Given the description of an element on the screen output the (x, y) to click on. 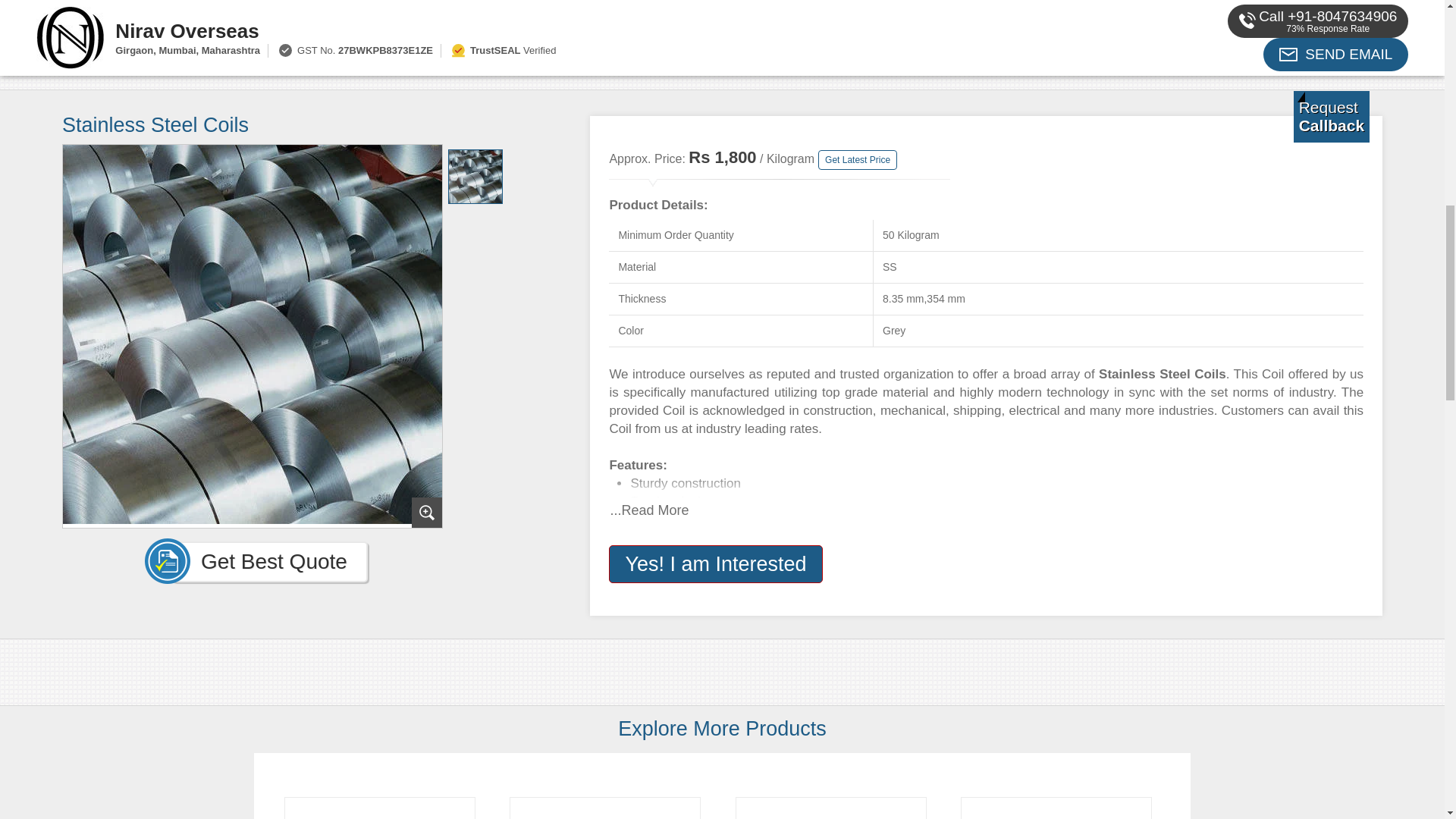
Get a Call from us (1332, 116)
